Given the description of an element on the screen output the (x, y) to click on. 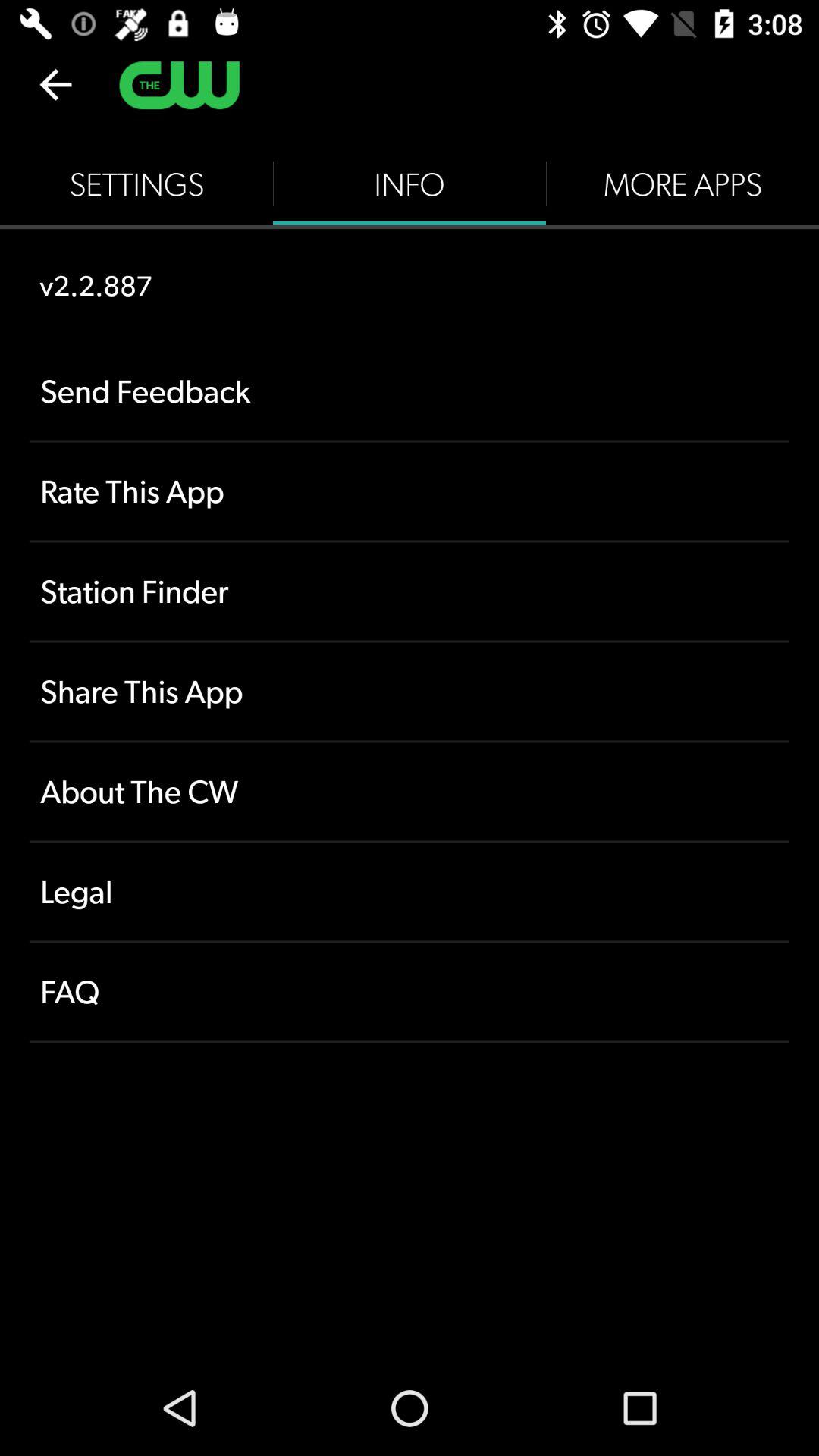
swipe until faq (409, 991)
